Given the description of an element on the screen output the (x, y) to click on. 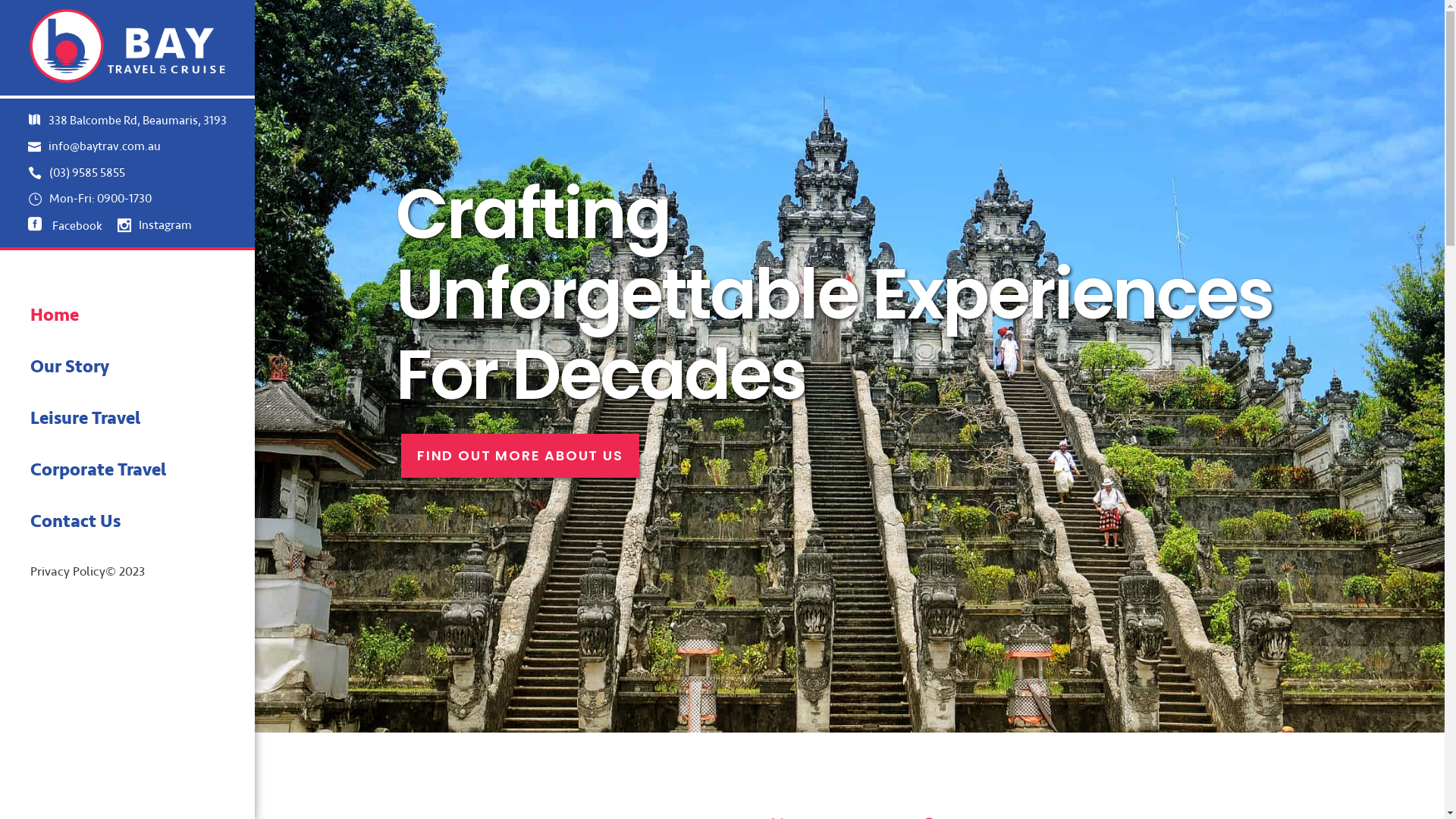
Our Story Element type: text (142, 366)
info@baytrav.com.au Element type: text (127, 145)
(03) 9585 5855 Element type: text (127, 172)
Mon-Fri: 0900-1730 Element type: text (127, 198)
Contact Us Element type: text (142, 521)
Home Element type: text (142, 315)
Instagram Element type: text (154, 225)
338 Balcombe Rd, Beaumaris, 3193 Element type: text (127, 120)
FIND OUT MORE ABOUT US Element type: text (520, 455)
Privacy Policy Element type: text (67, 572)
Leisure Travel Element type: text (142, 418)
Corporate Travel Element type: text (142, 469)
Facebook Element type: text (65, 225)
